Given the description of an element on the screen output the (x, y) to click on. 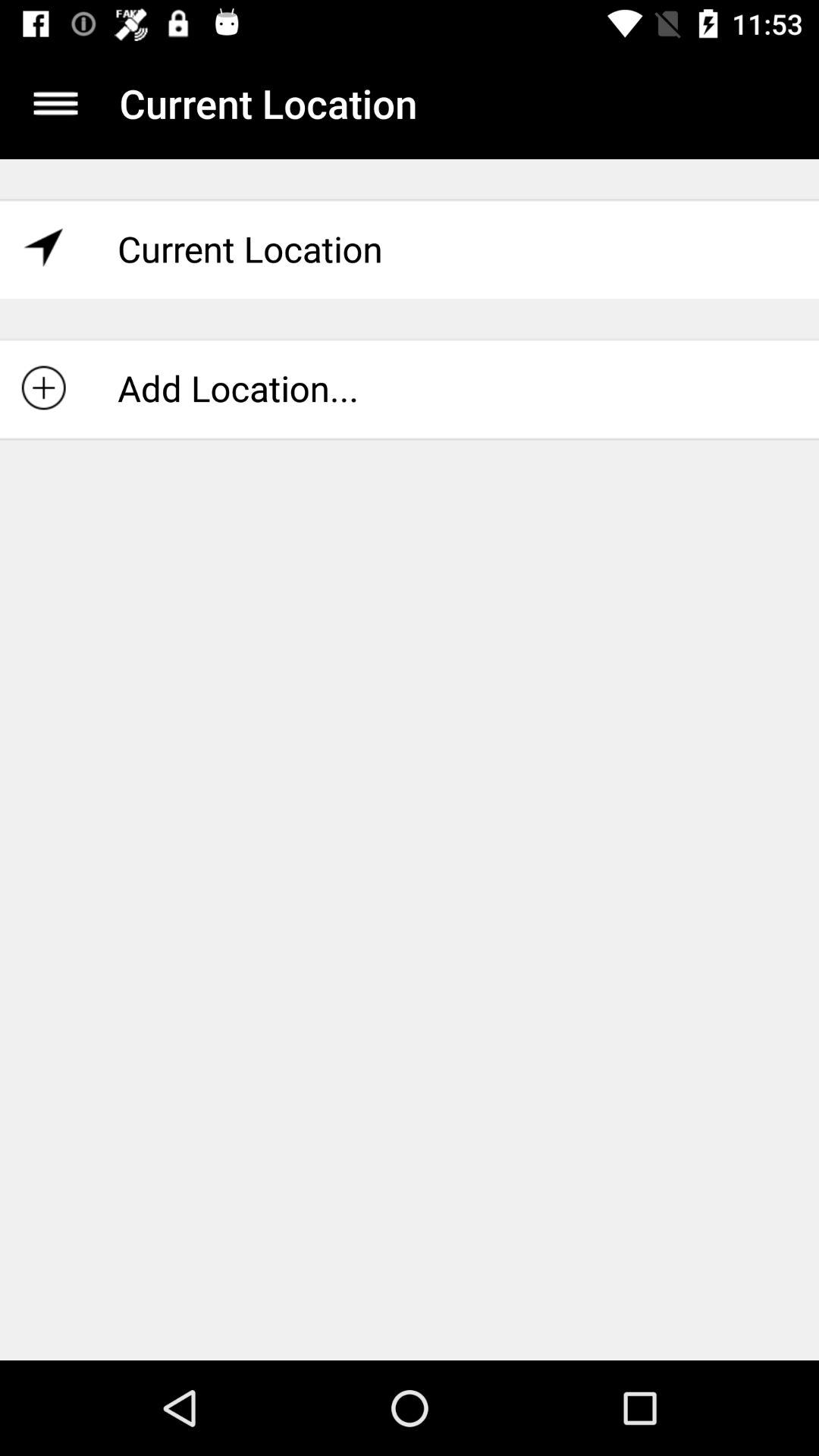
choose the item above the current location (55, 103)
